Given the description of an element on the screen output the (x, y) to click on. 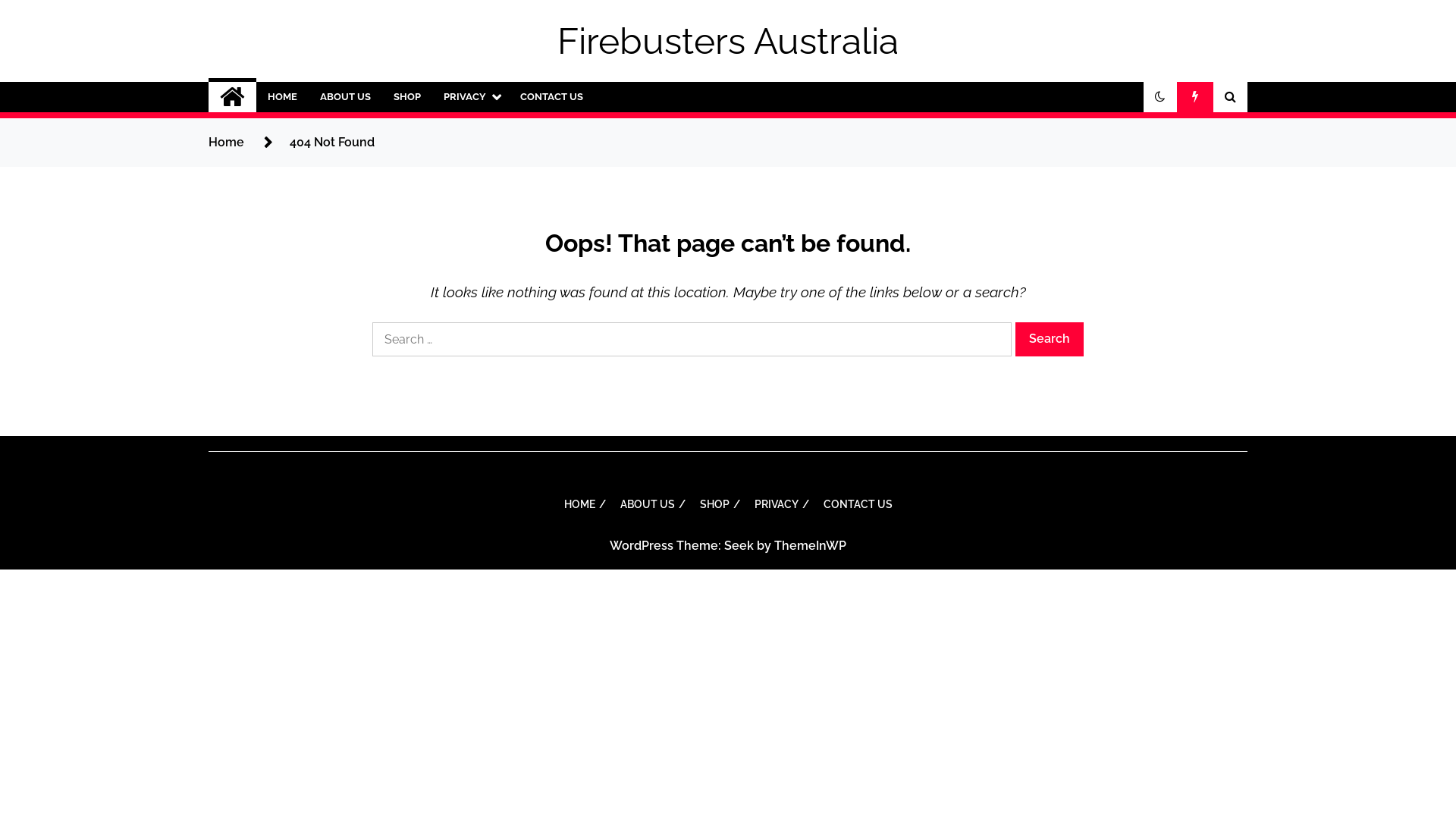
SHOP Element type: text (407, 96)
ABOUT US Element type: text (650, 504)
SHOP Element type: text (717, 504)
Firebusters Australia Element type: text (727, 40)
ThemeInWP Element type: text (810, 545)
PRIVACY Element type: text (779, 504)
Home Element type: text (226, 141)
CONTACT US Element type: text (857, 504)
404 Not Found Element type: text (331, 141)
Home Element type: hover (232, 96)
HOME Element type: text (282, 96)
CONTACT US Element type: text (551, 96)
HOME Element type: text (582, 504)
ABOUT US Element type: text (345, 96)
Search Element type: text (1049, 339)
PRIVACY Element type: text (470, 96)
